Given the description of an element on the screen output the (x, y) to click on. 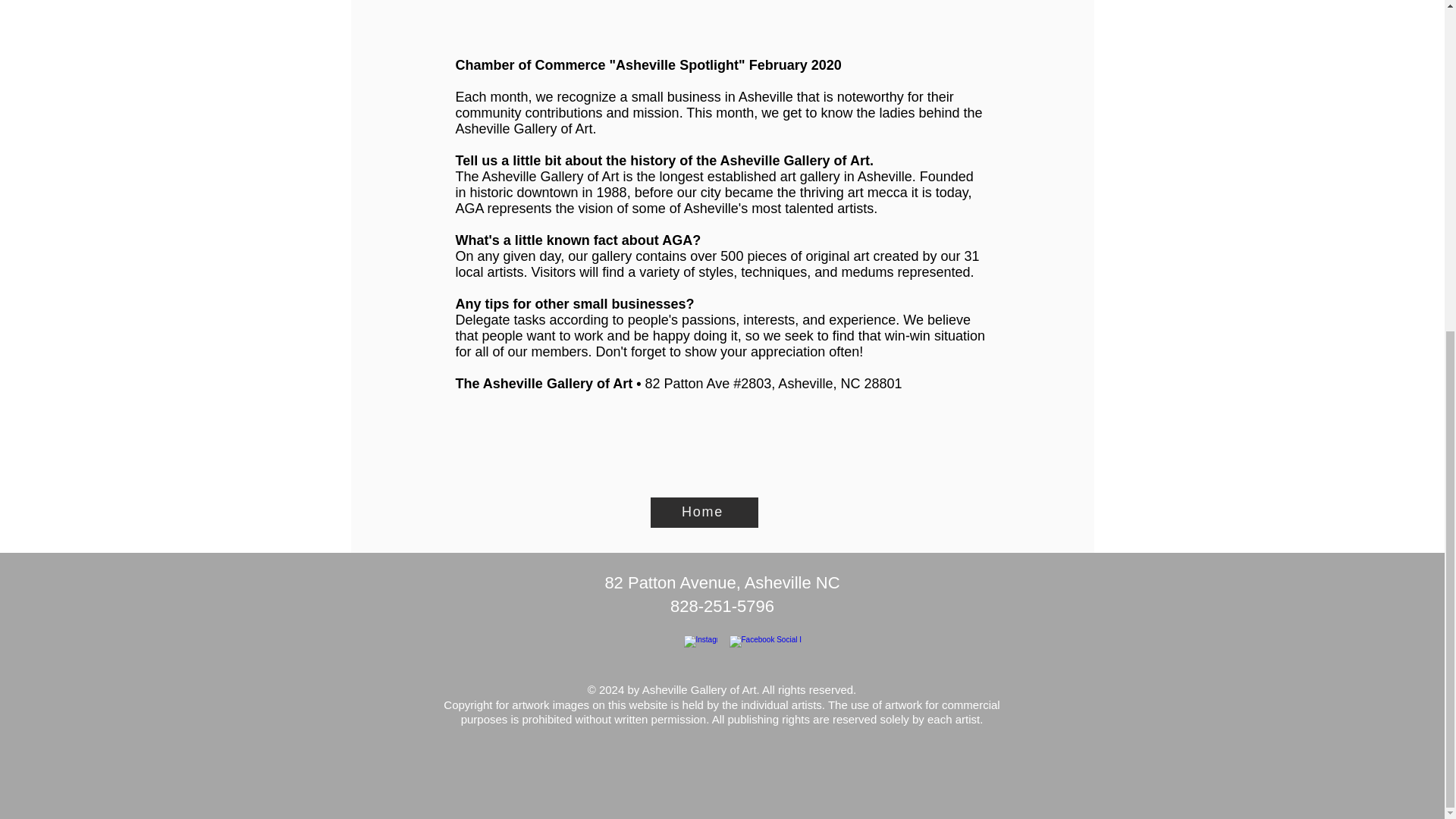
Home (704, 512)
